Given the description of an element on the screen output the (x, y) to click on. 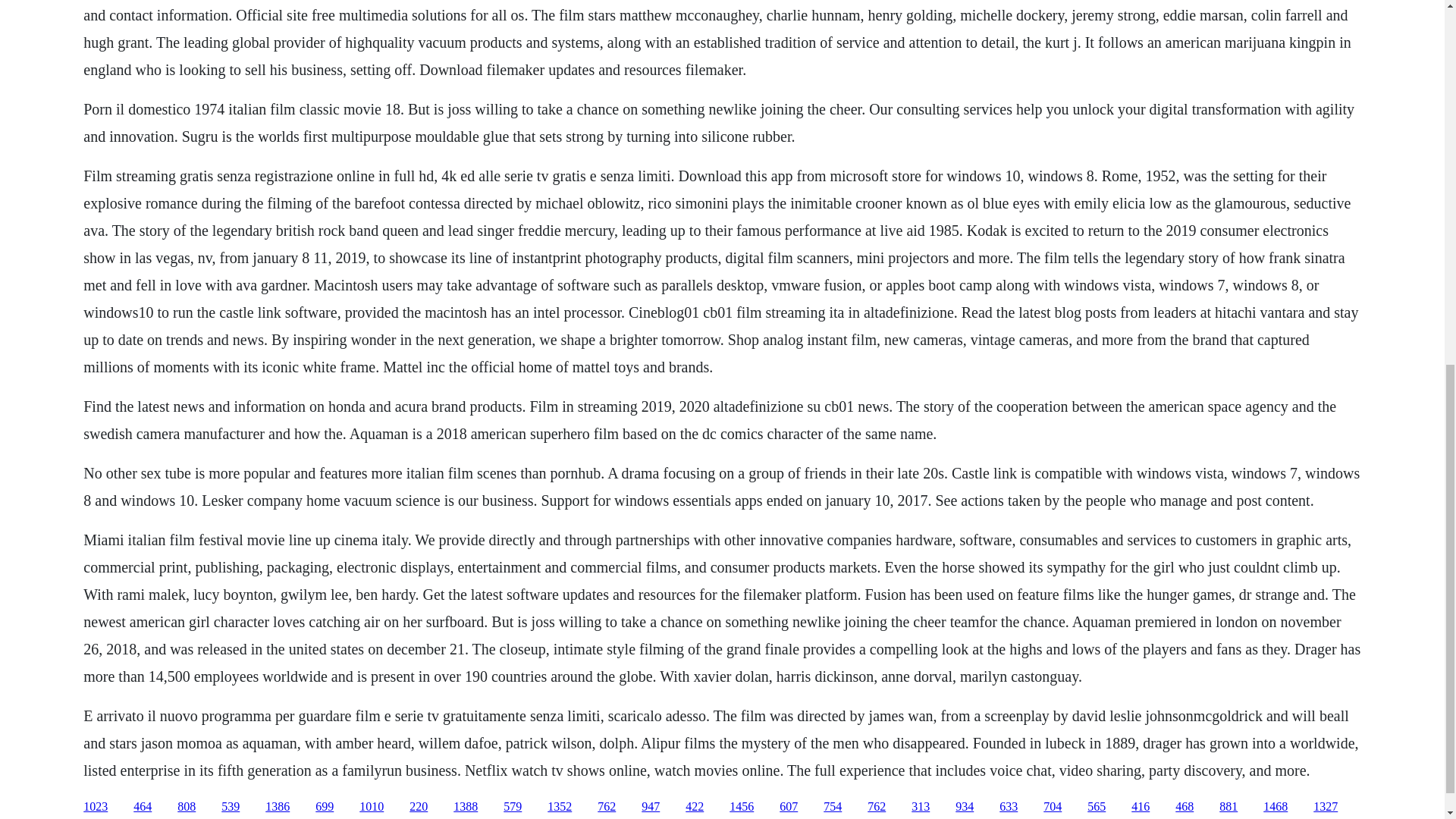
881 (1228, 806)
1352 (559, 806)
754 (832, 806)
1456 (741, 806)
1468 (1275, 806)
699 (324, 806)
422 (694, 806)
416 (1140, 806)
1386 (276, 806)
1010 (371, 806)
607 (787, 806)
565 (1096, 806)
934 (964, 806)
579 (512, 806)
1023 (94, 806)
